Given the description of an element on the screen output the (x, y) to click on. 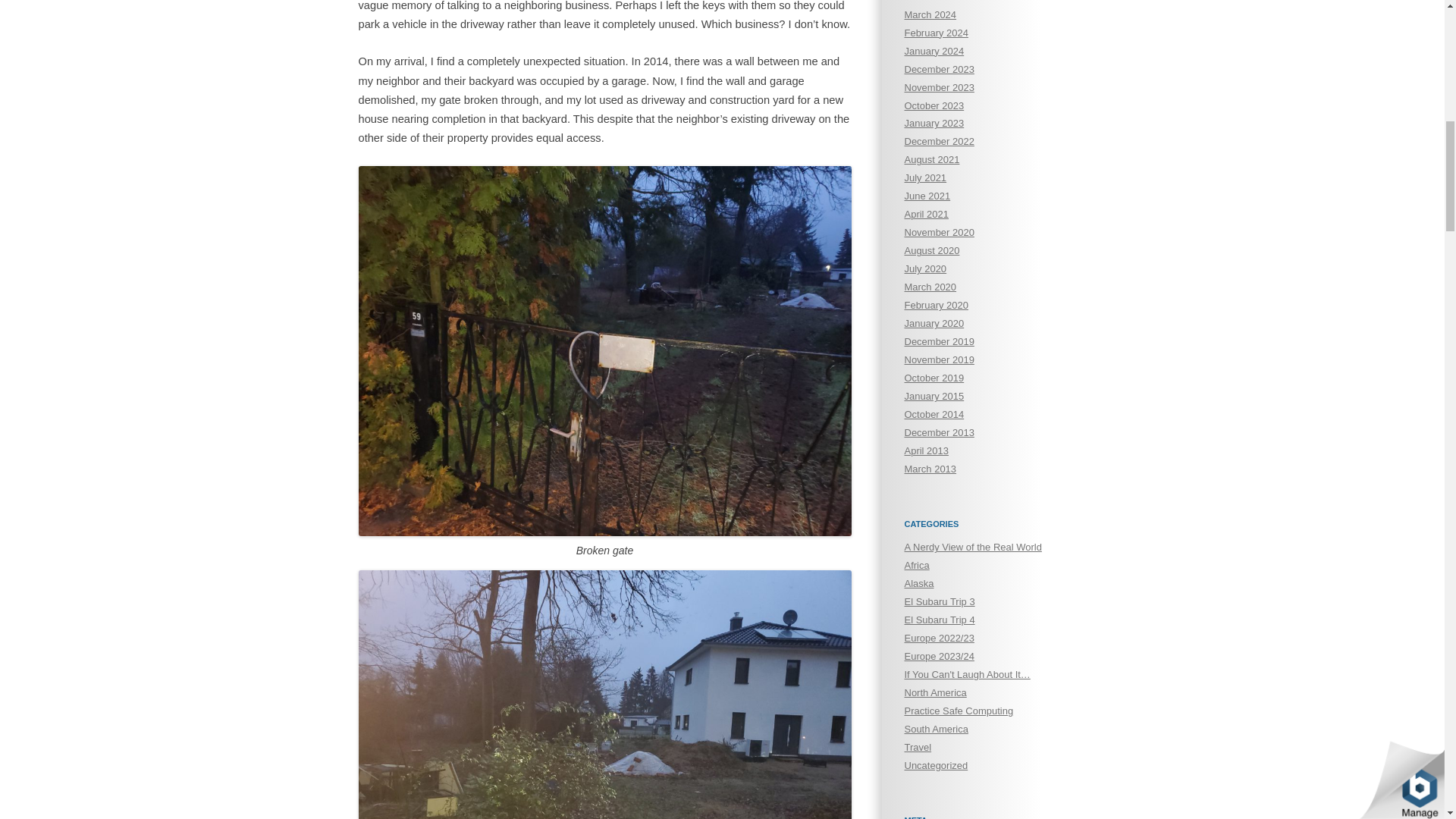
January 2024 (933, 50)
March 2024 (930, 14)
December 2023 (939, 69)
February 2024 (936, 32)
